Given the description of an element on the screen output the (x, y) to click on. 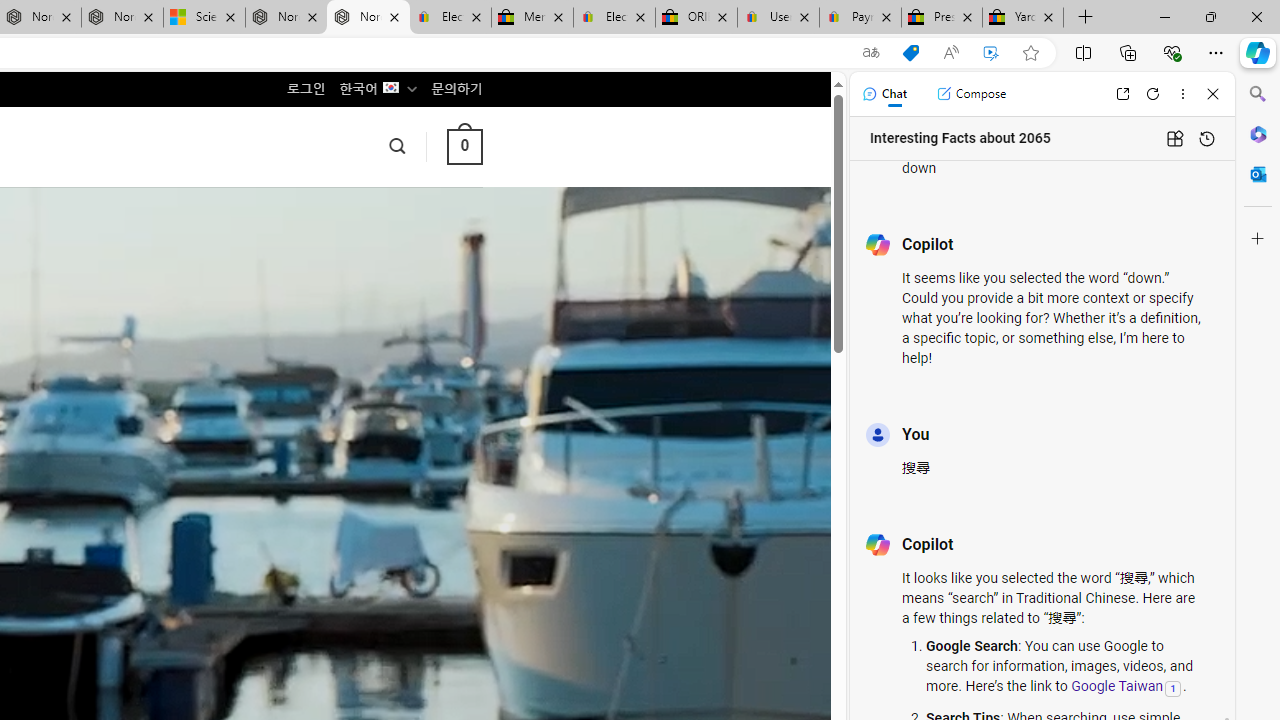
Show translate options (870, 53)
Add this page to favorites (Ctrl+D) (1030, 53)
This site has coupons! Shopping in Microsoft Edge (910, 53)
Read aloud this page (Ctrl+Shift+U) (950, 53)
Nordace - Home (368, 17)
Yard, Garden & Outdoor Living (1023, 17)
Open link in new tab (1122, 93)
Refresh (1153, 93)
Electronics, Cars, Fashion, Collectibles & More | eBay (614, 17)
Split screen (1083, 52)
User Privacy Notice | eBay (778, 17)
